Given the description of an element on the screen output the (x, y) to click on. 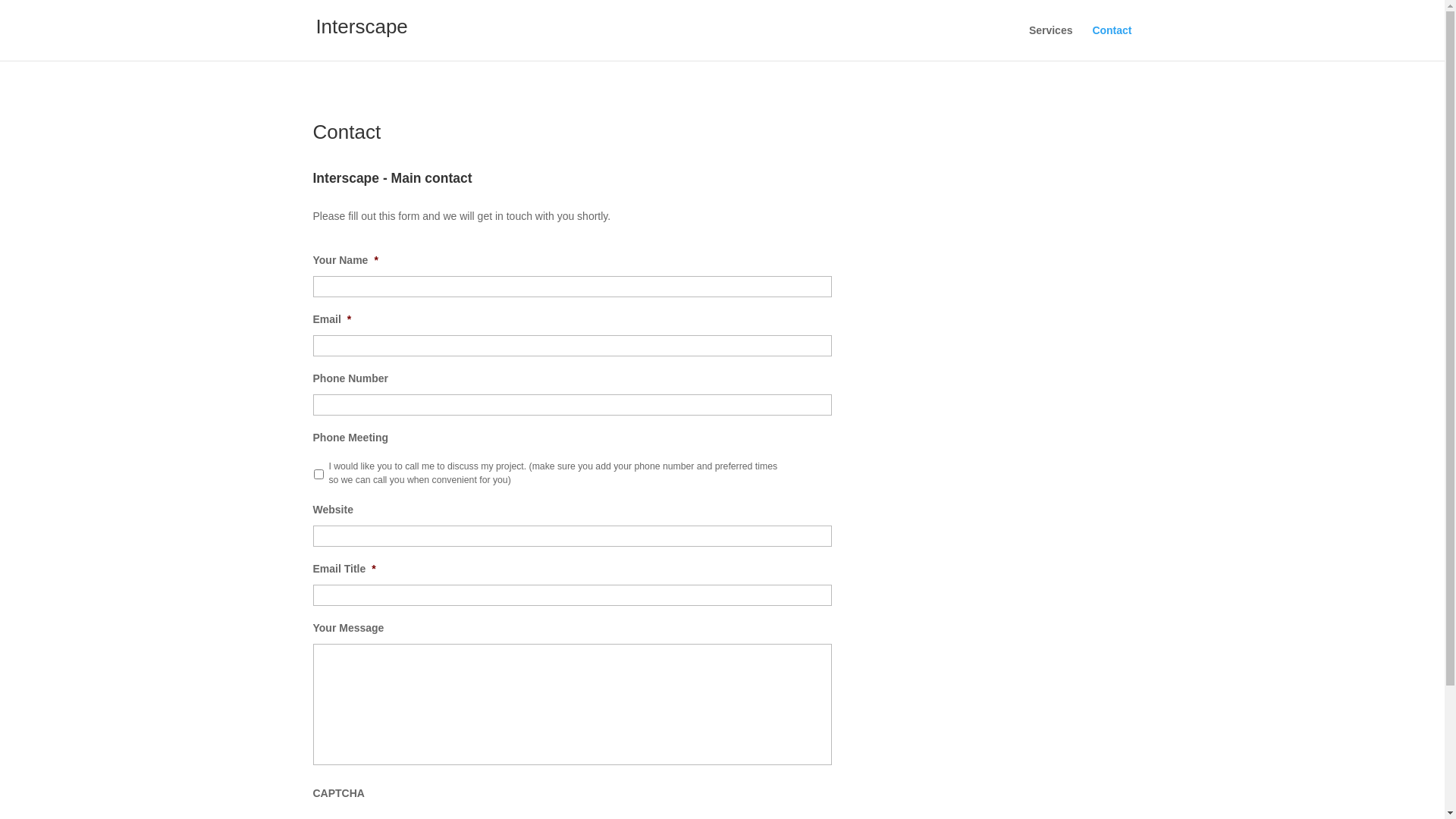
Interscape Element type: text (361, 29)
Contact Element type: text (1111, 42)
Services Element type: text (1051, 42)
